Given the description of an element on the screen output the (x, y) to click on. 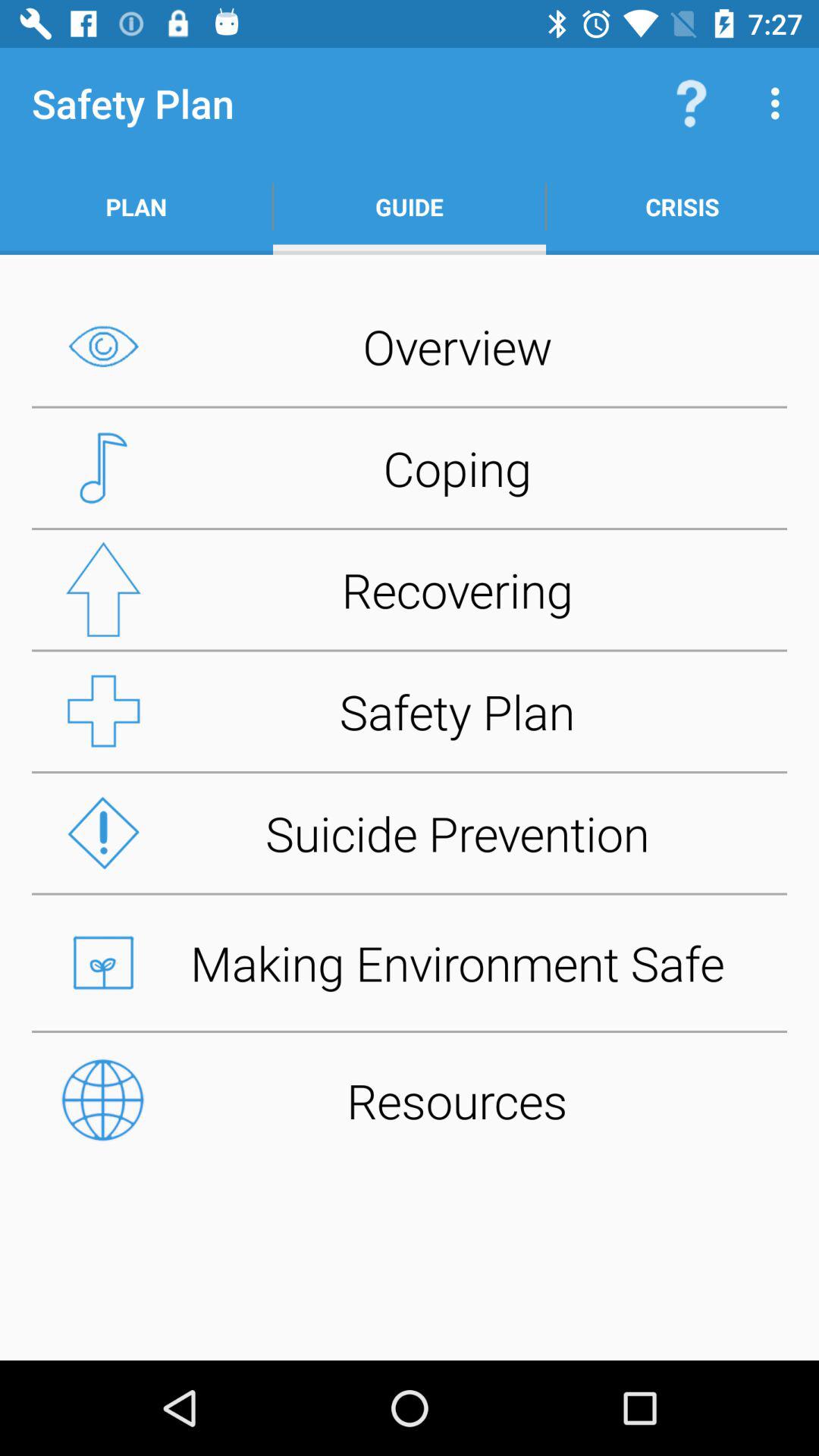
jump until suicide prevention icon (409, 832)
